Given the description of an element on the screen output the (x, y) to click on. 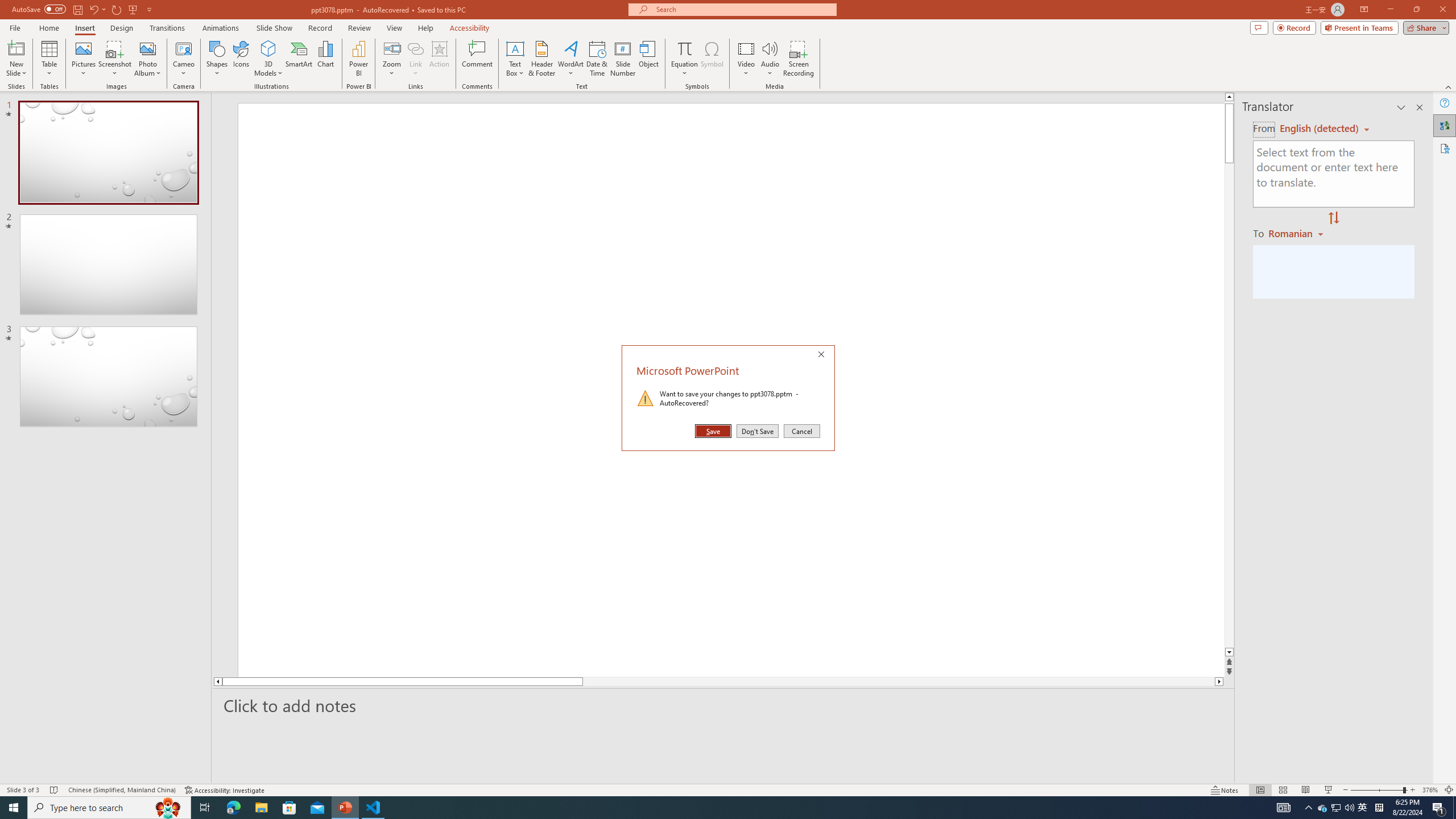
Table (49, 58)
Icons (240, 58)
Action Center, 1 new notification (1439, 807)
Comment (476, 58)
Warning Icon (645, 398)
3D Models (268, 48)
SmartArt... (298, 58)
Video (745, 58)
